Given the description of an element on the screen output the (x, y) to click on. 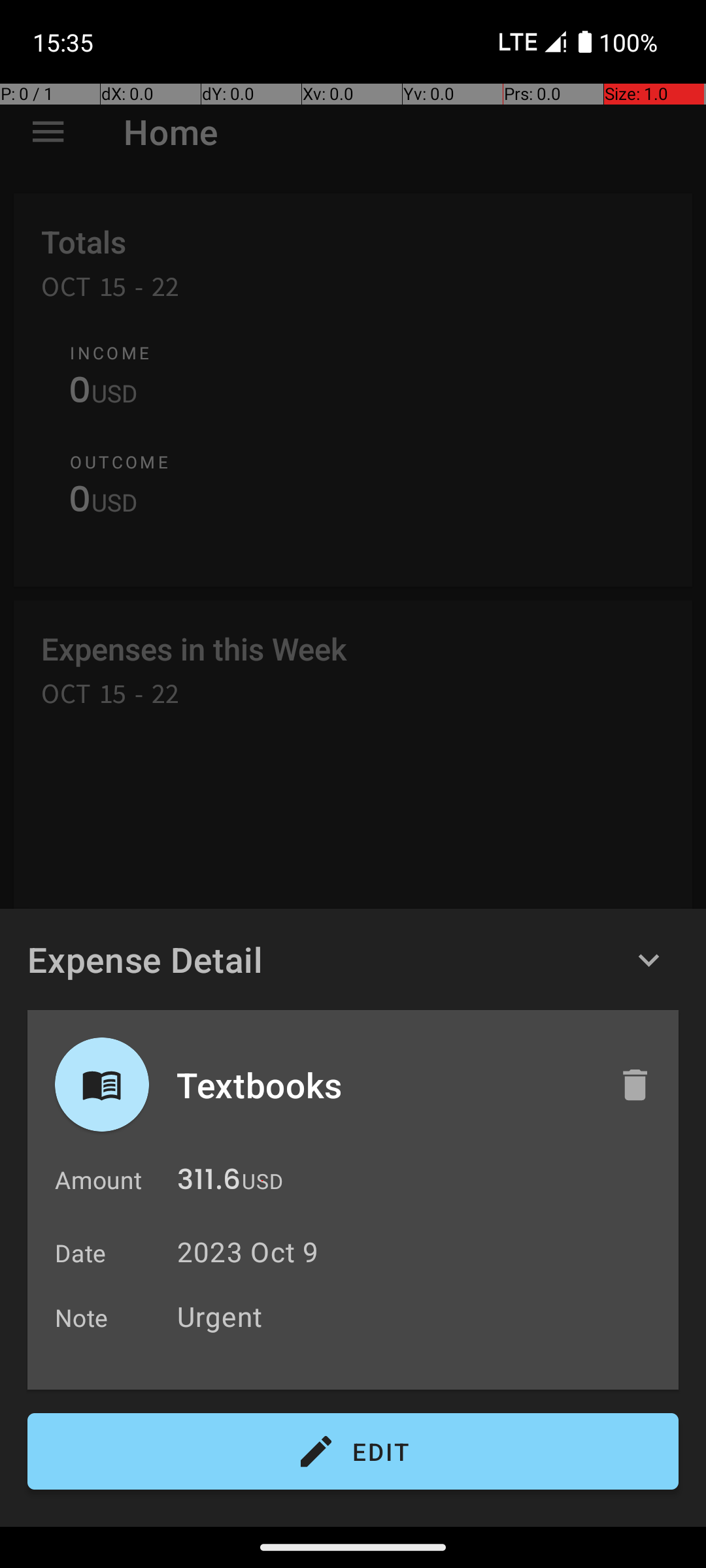
Textbooks Element type: android.widget.TextView (383, 1084)
311.6 Element type: android.widget.TextView (208, 1182)
